Given the description of an element on the screen output the (x, y) to click on. 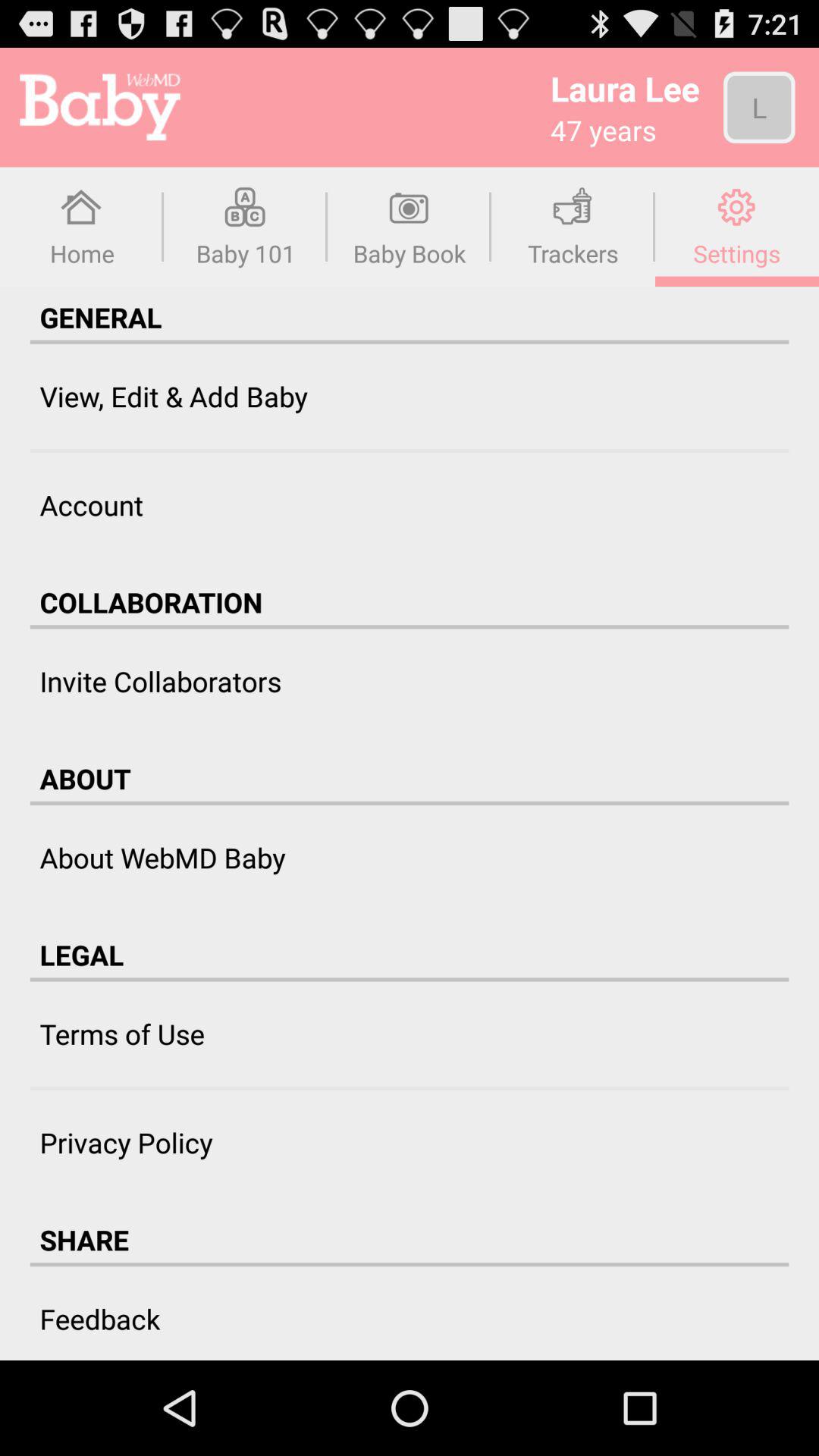
select the icon above privacy policy item (409, 1088)
